Given the description of an element on the screen output the (x, y) to click on. 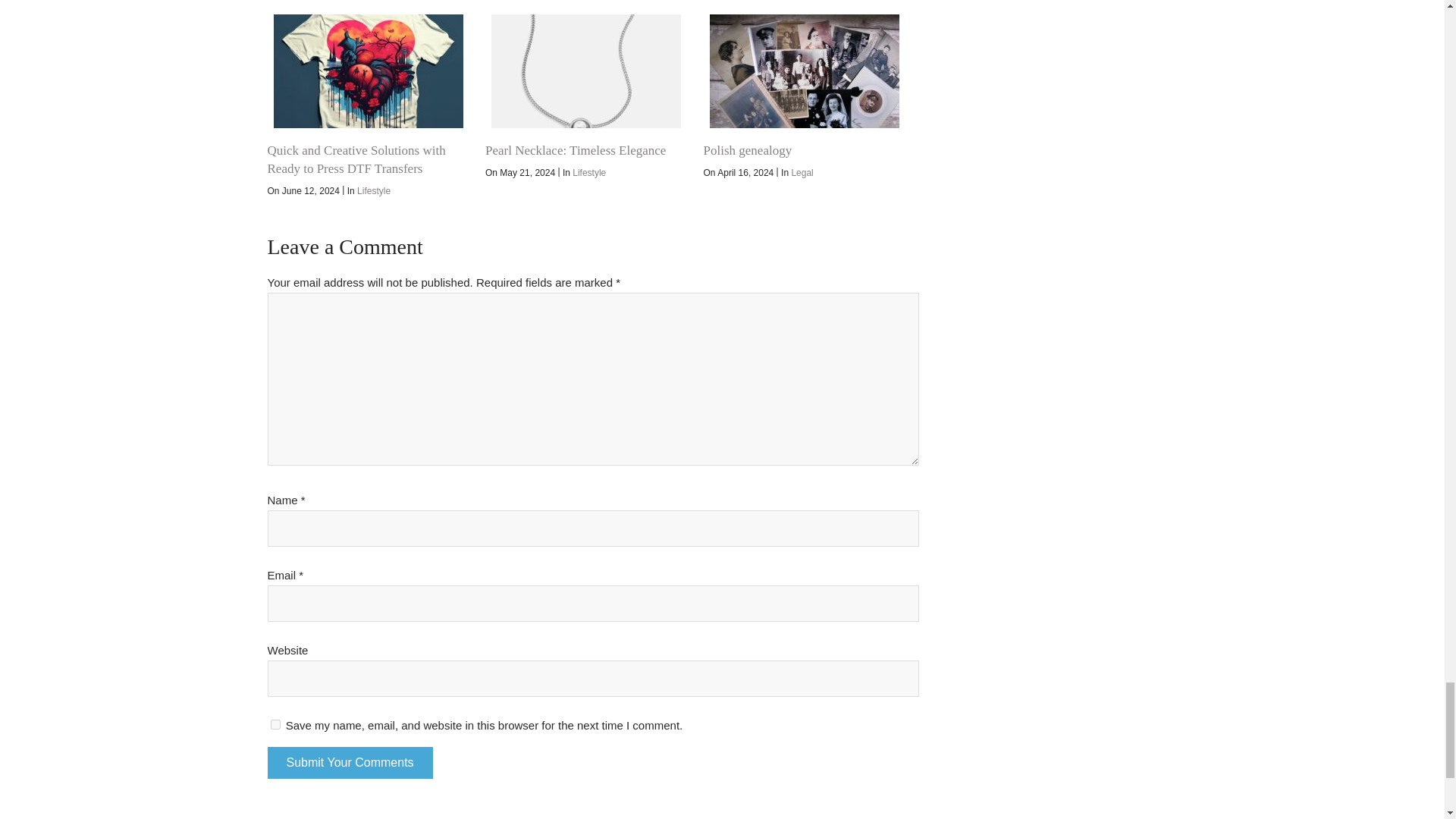
Legal (801, 172)
Lifestyle (588, 172)
Pearl Necklace: Timeless Elegance (574, 150)
Polish genealogy (747, 150)
Polish genealogy (804, 70)
yes (274, 724)
Submit Your Comments (349, 762)
Lifestyle (373, 190)
